Given the description of an element on the screen output the (x, y) to click on. 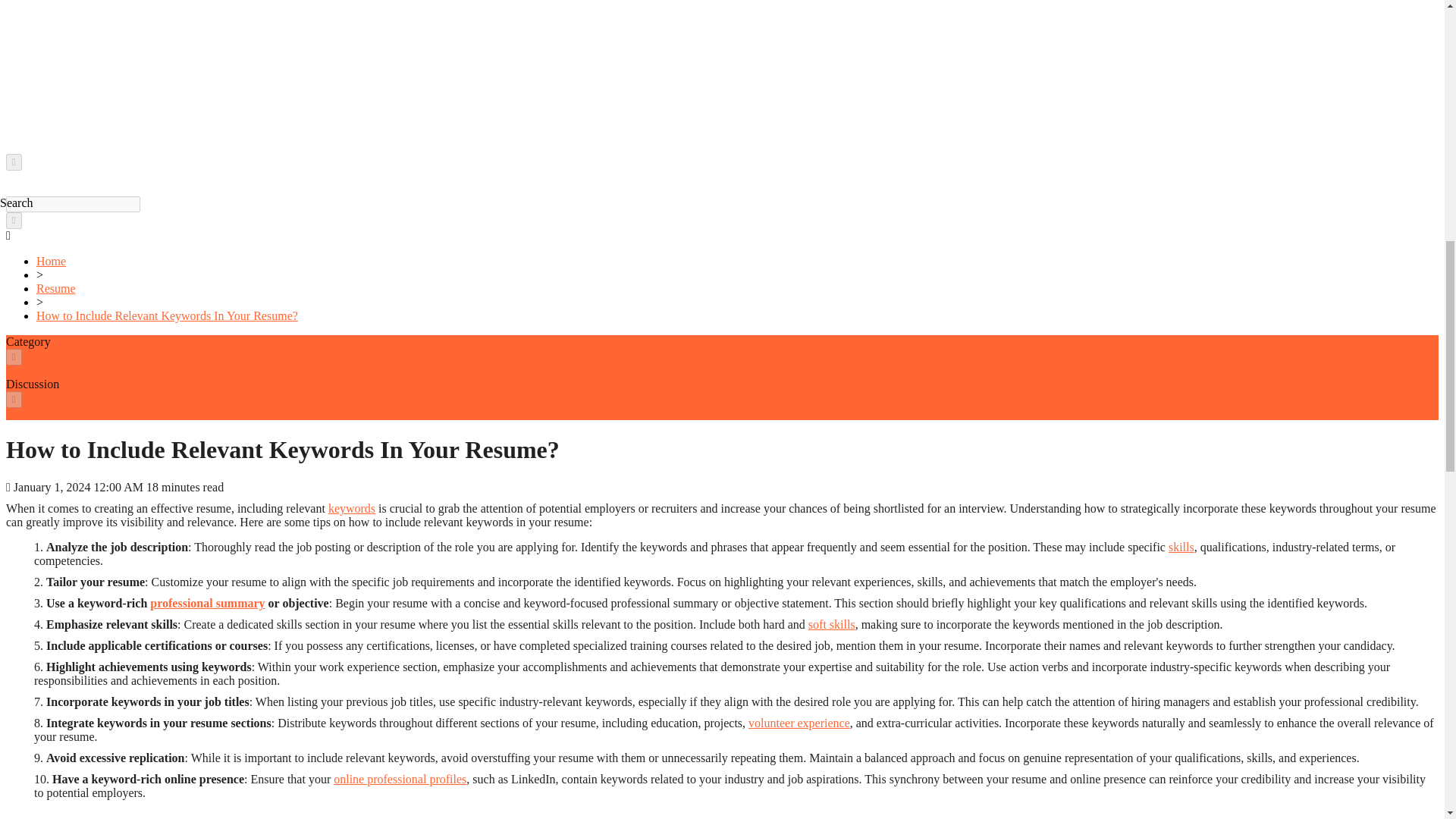
keywords (352, 508)
volunteer experience (799, 722)
professional summary (206, 603)
Resume (55, 287)
How to Include Relevant Keywords In Your Resume? (167, 315)
online professional profiles (399, 779)
soft skills (832, 624)
skills (1181, 546)
Home (50, 260)
